Given the description of an element on the screen output the (x, y) to click on. 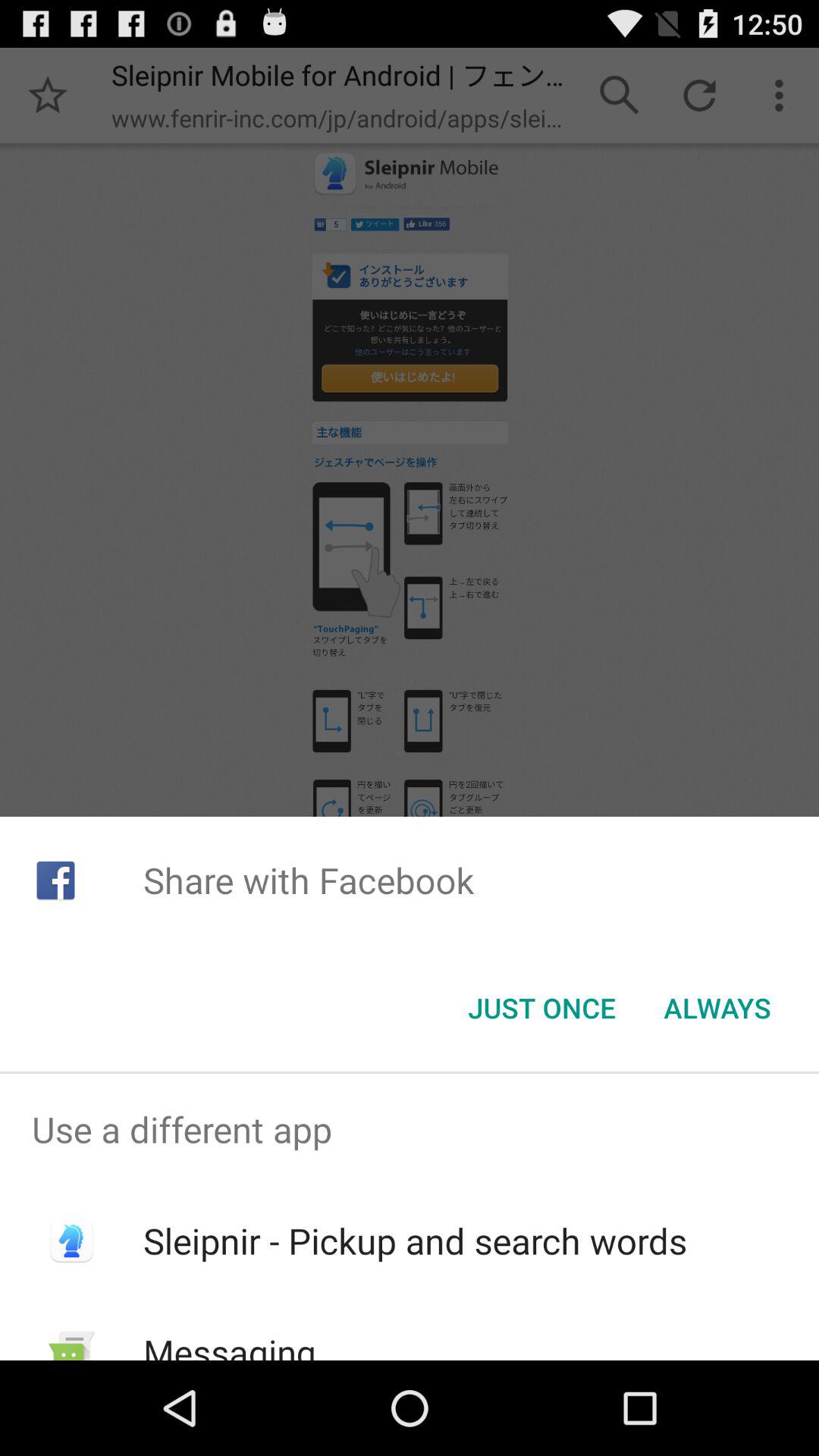
jump to sleipnir pickup and item (415, 1240)
